Given the description of an element on the screen output the (x, y) to click on. 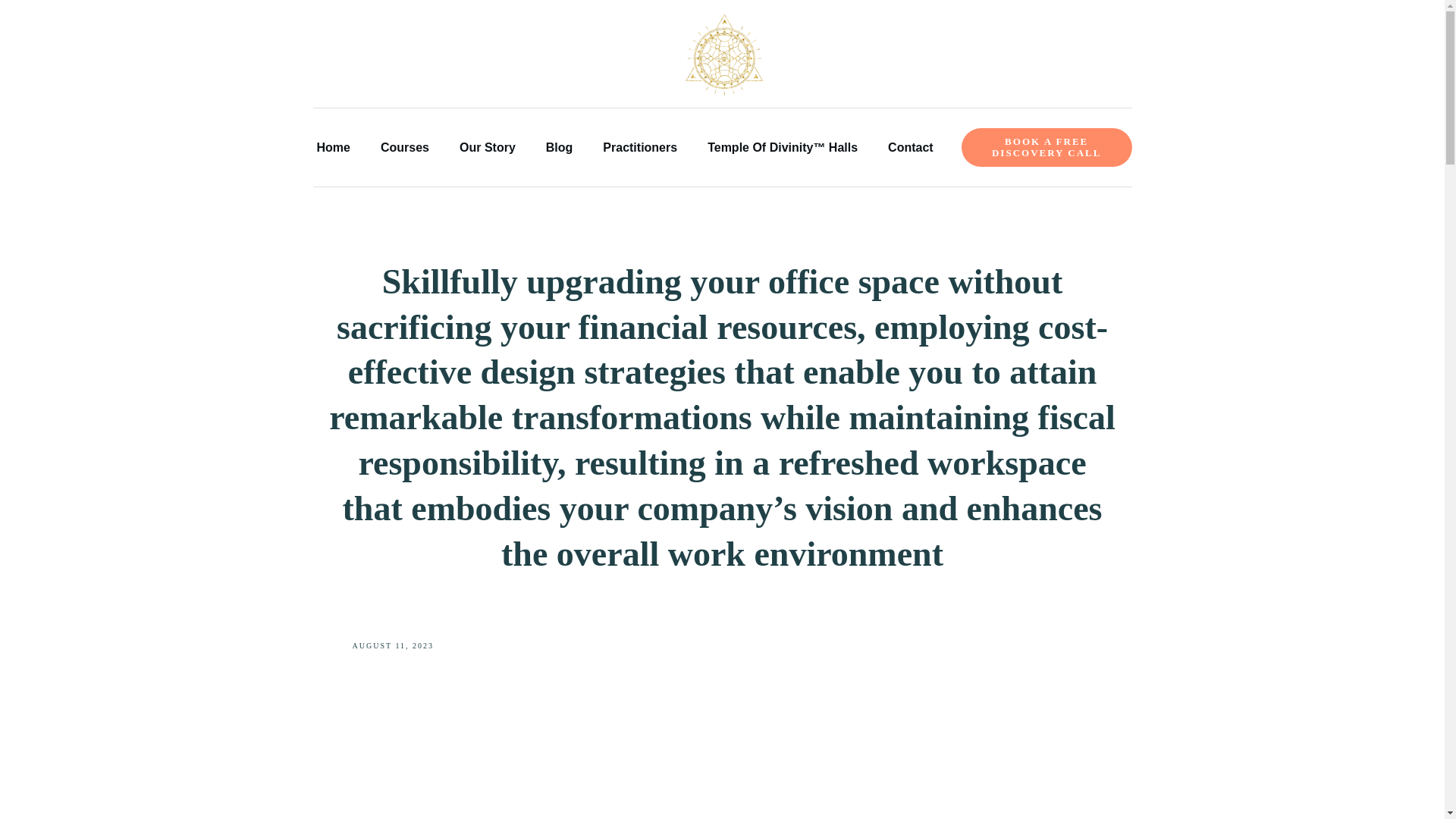
Our Story (487, 148)
Blog (559, 148)
Courses (404, 148)
Home (333, 148)
Contact (910, 148)
BOOK A FREE DISCOVERY CALL (1046, 147)
Practitioners (639, 148)
